Given the description of an element on the screen output the (x, y) to click on. 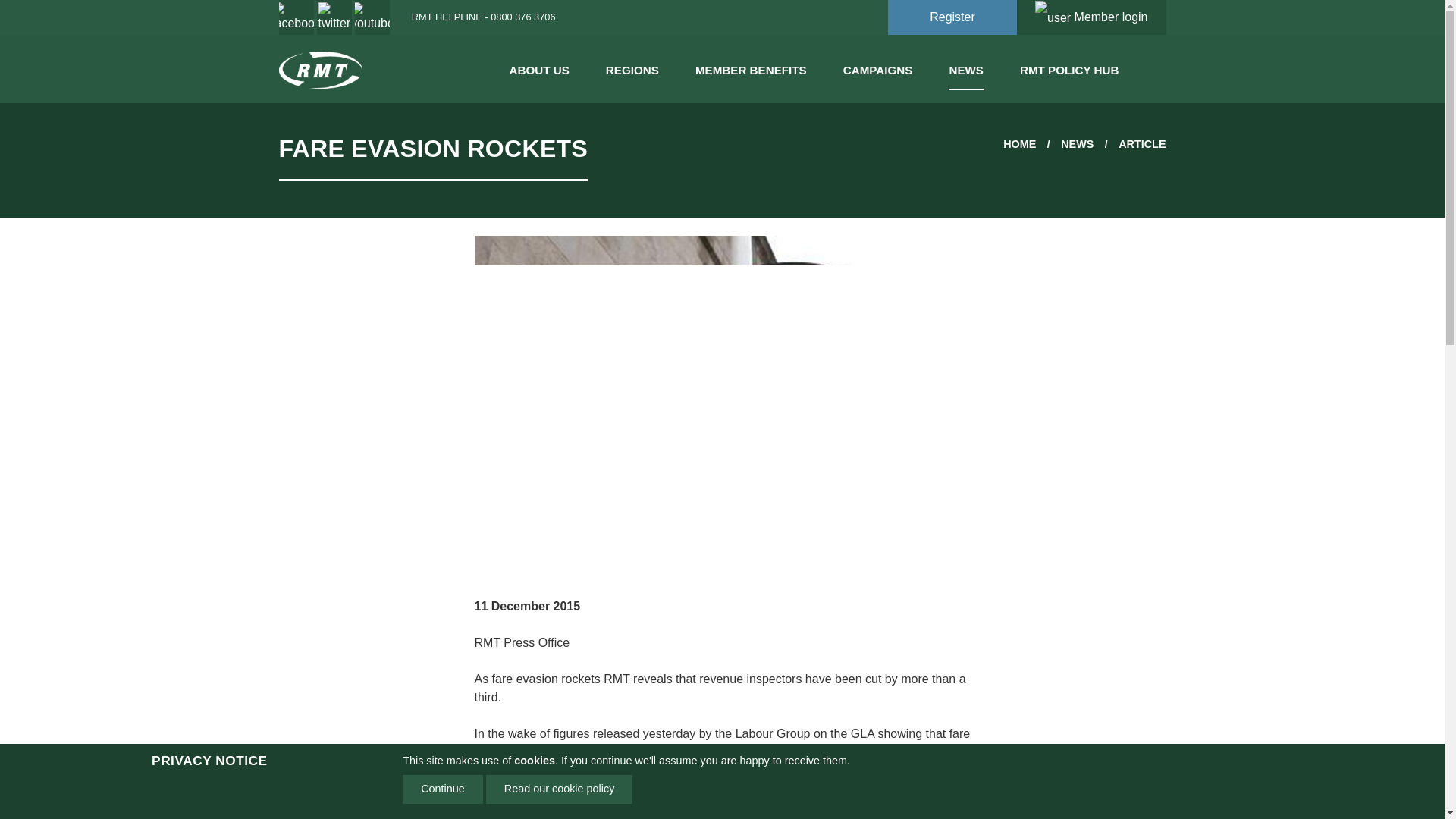
See our channel on YouTube (372, 17)
twitter (334, 17)
Like us on Facebook (296, 17)
RMT POLICY HUB (1069, 67)
RMT HELPLINE - 0800 376 3706 (479, 16)
Follow us on Twitter (334, 17)
user (1054, 17)
youtube (372, 17)
Continue (443, 788)
Read our cookie policy (559, 788)
